Given the description of an element on the screen output the (x, y) to click on. 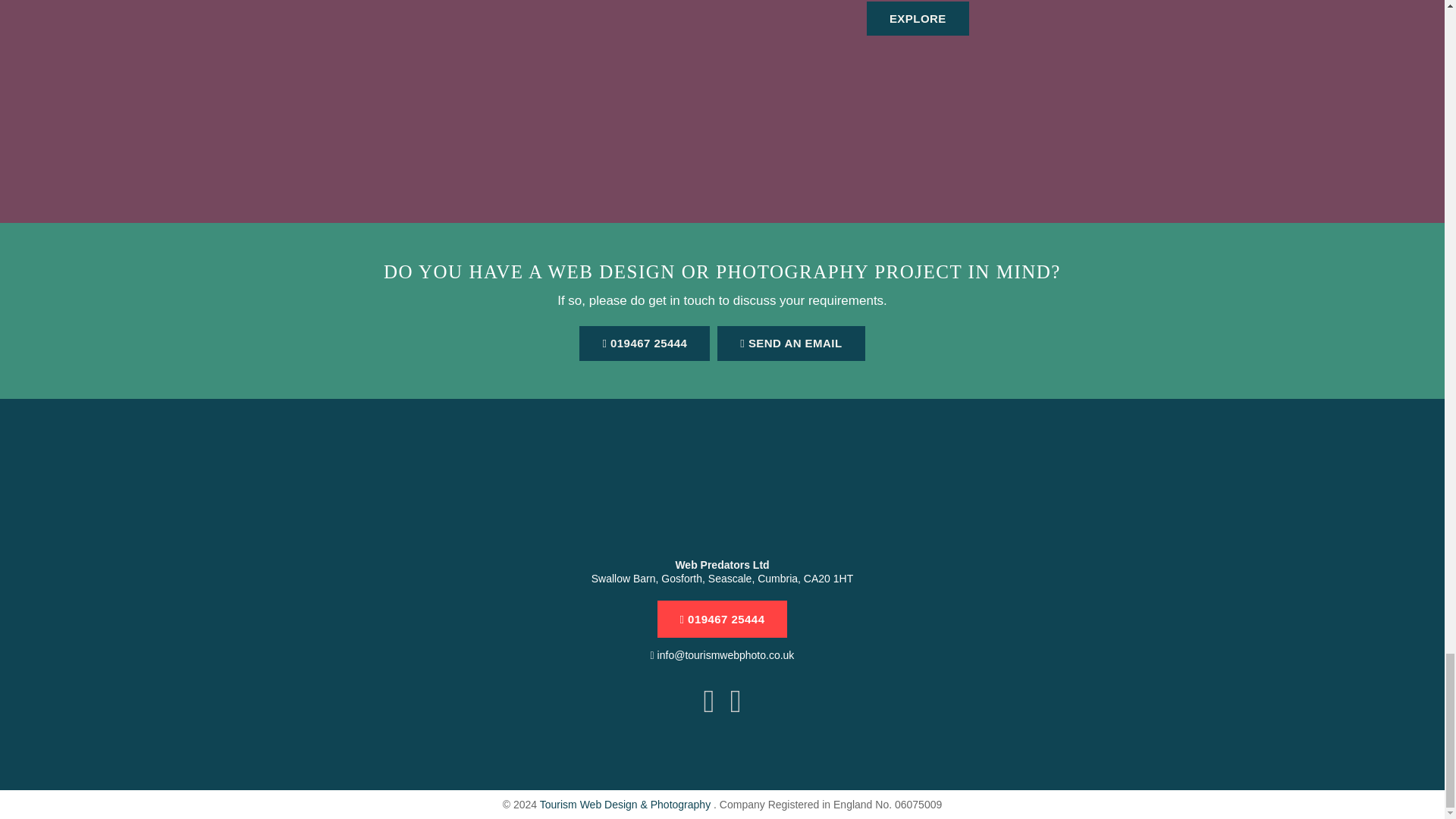
019467 25444 (644, 343)
EXPLORE (917, 18)
019467 25444 (722, 618)
SEND AN EMAIL (790, 343)
